Given the description of an element on the screen output the (x, y) to click on. 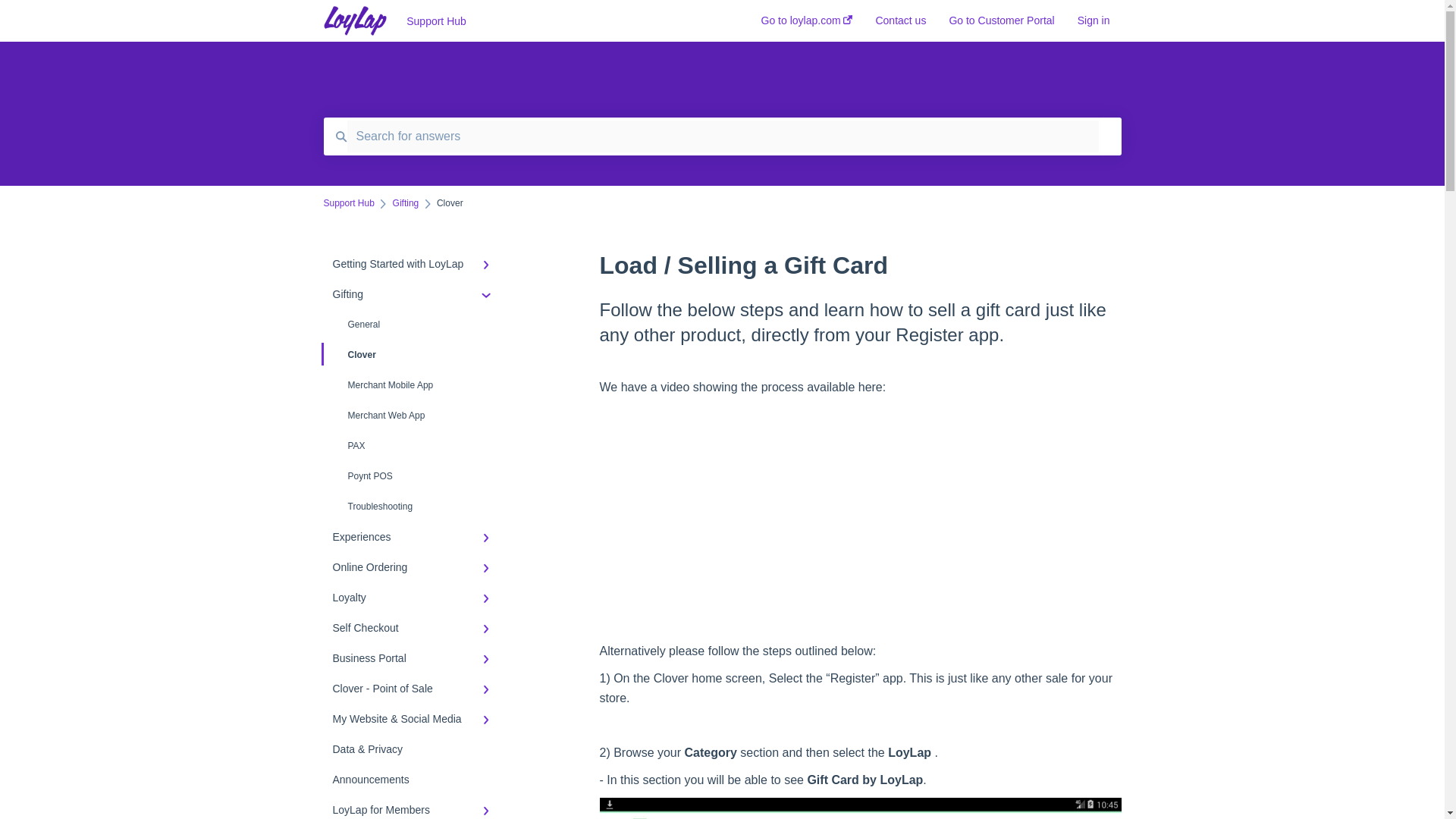
Go to Customer Portal (1001, 25)
Selling a Gift Card on Clover Mini POS (860, 523)
Contact us (900, 25)
Go to loylap.com (807, 25)
Support Hub (560, 21)
